Given the description of an element on the screen output the (x, y) to click on. 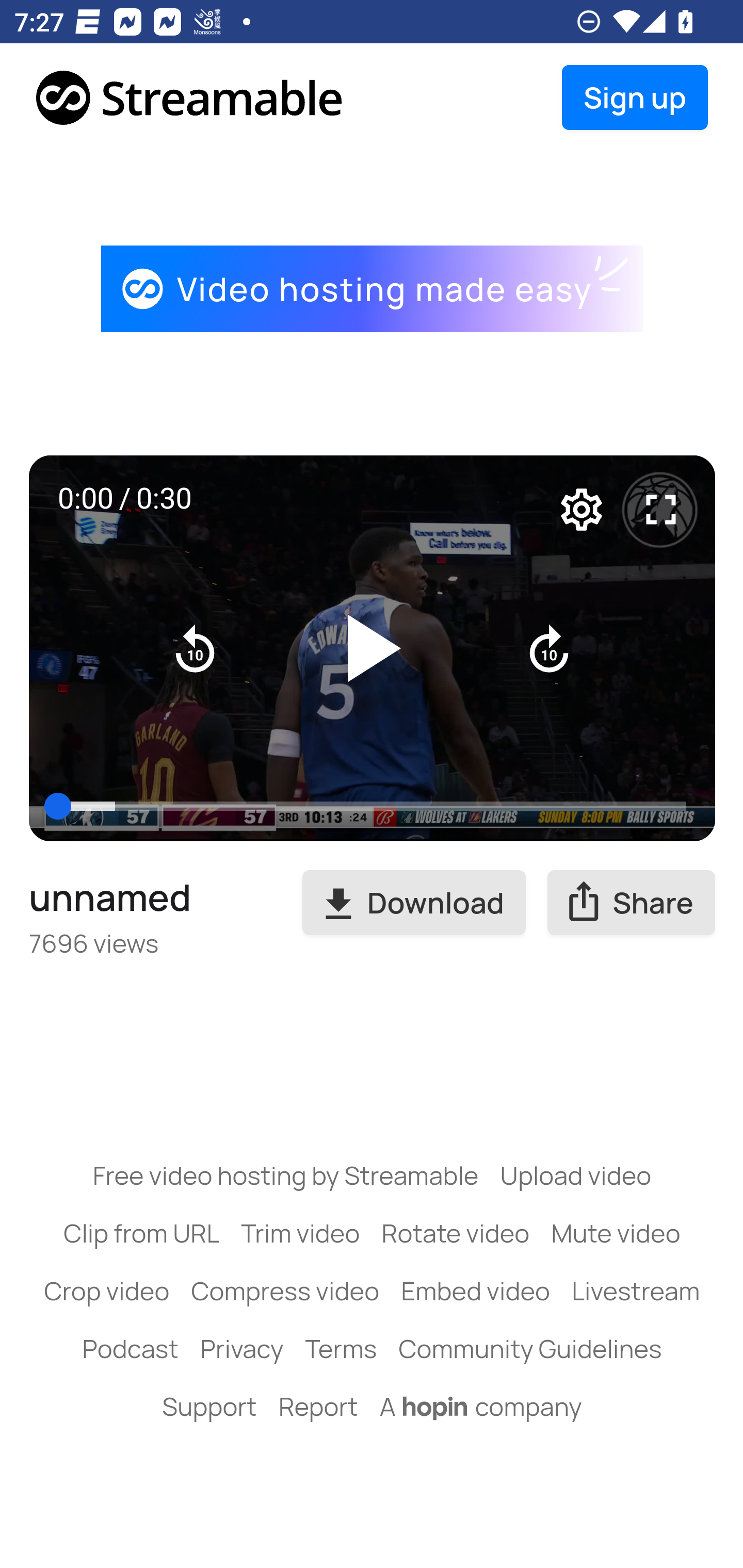
Sign up (634, 97)
Streamable Logo (189, 97)
Options (o) (581, 510)
Full screen (f) (662, 510)
Play (k) (372, 647)
Seek back (j) (195, 647)
Seek forward (l) (549, 647)
download Download (414, 903)
ios_share Share (631, 903)
Free video hosting by Streamable (286, 1174)
Upload video (574, 1174)
Clip from URL (141, 1232)
Trim video (300, 1232)
Rotate video (455, 1232)
Mute video (615, 1232)
Crop video (107, 1290)
Compress video (284, 1290)
Embed video (475, 1290)
Livestream (635, 1290)
Podcast (130, 1348)
Privacy (241, 1348)
Terms (340, 1348)
Community Guidelines (529, 1348)
Support (208, 1406)
Report (317, 1406)
A company A company (480, 1406)
